Given the description of an element on the screen output the (x, y) to click on. 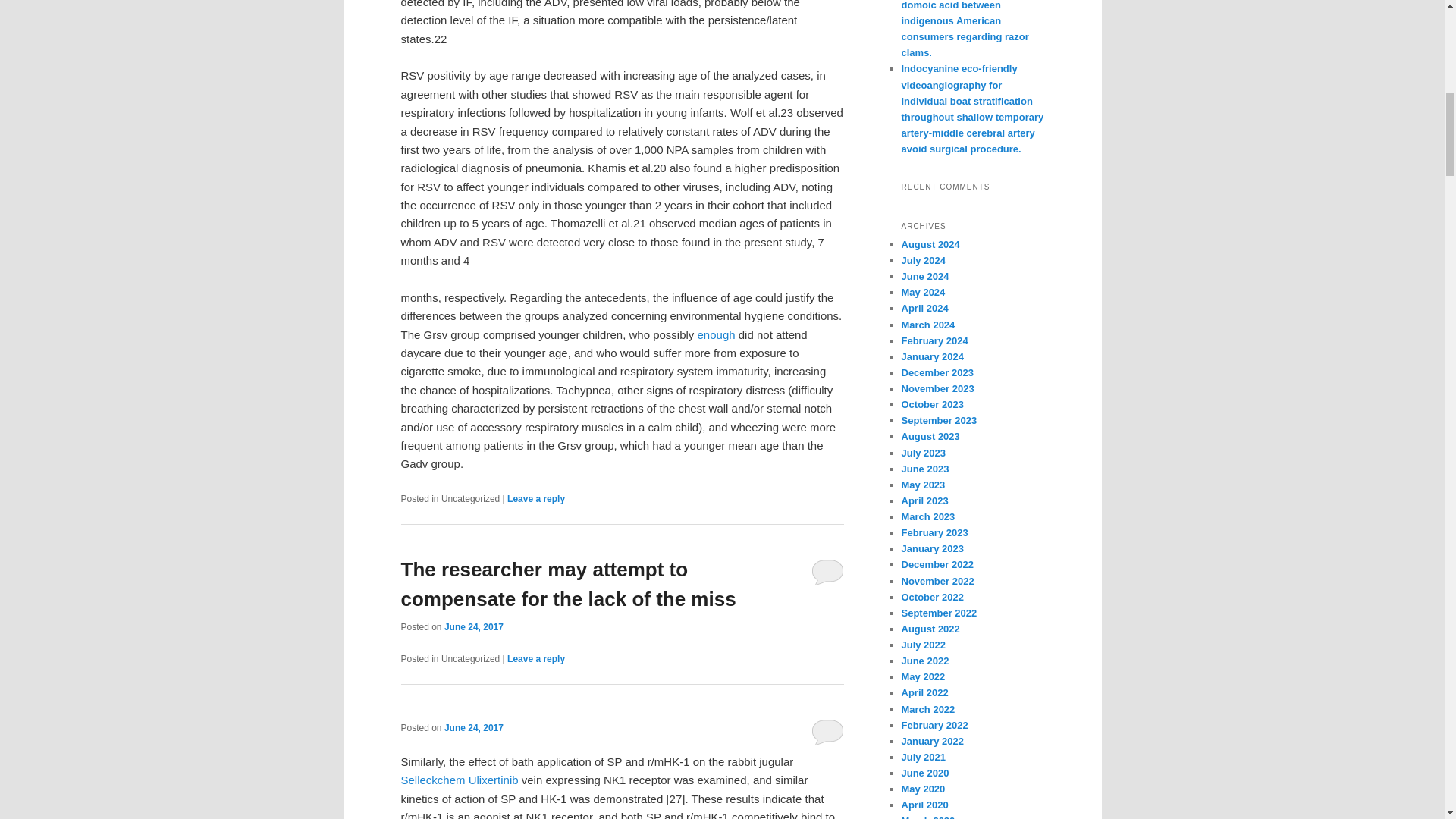
Leave a reply (535, 498)
June 24, 2017 (473, 726)
4:50 am (473, 726)
Leave a reply (535, 658)
Selleckchem Ulixertinib (459, 779)
1:09 pm (473, 626)
